Given the description of an element on the screen output the (x, y) to click on. 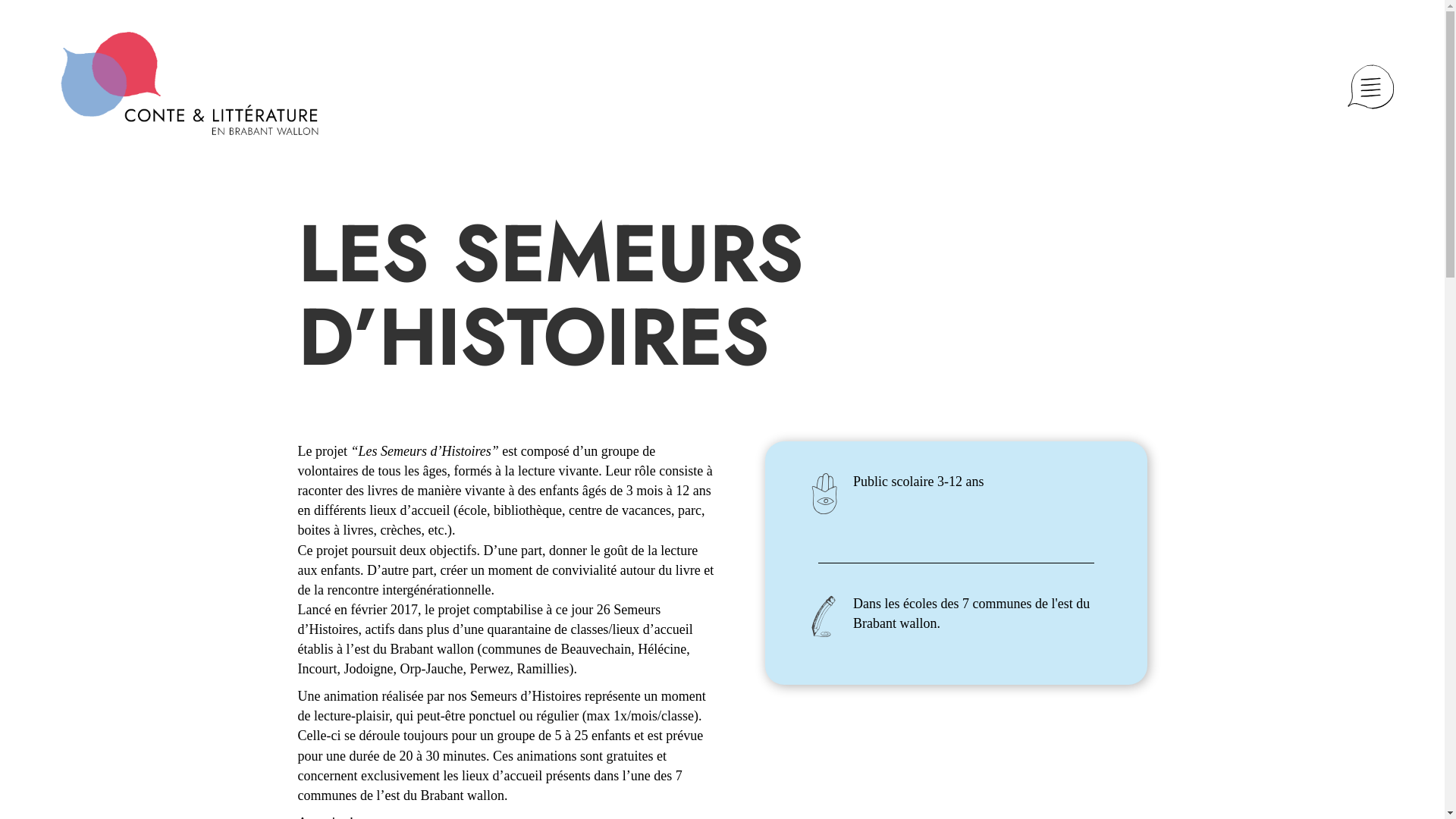
CC_Logo_couleur_horiz Element type: hover (189, 83)
